Given the description of an element on the screen output the (x, y) to click on. 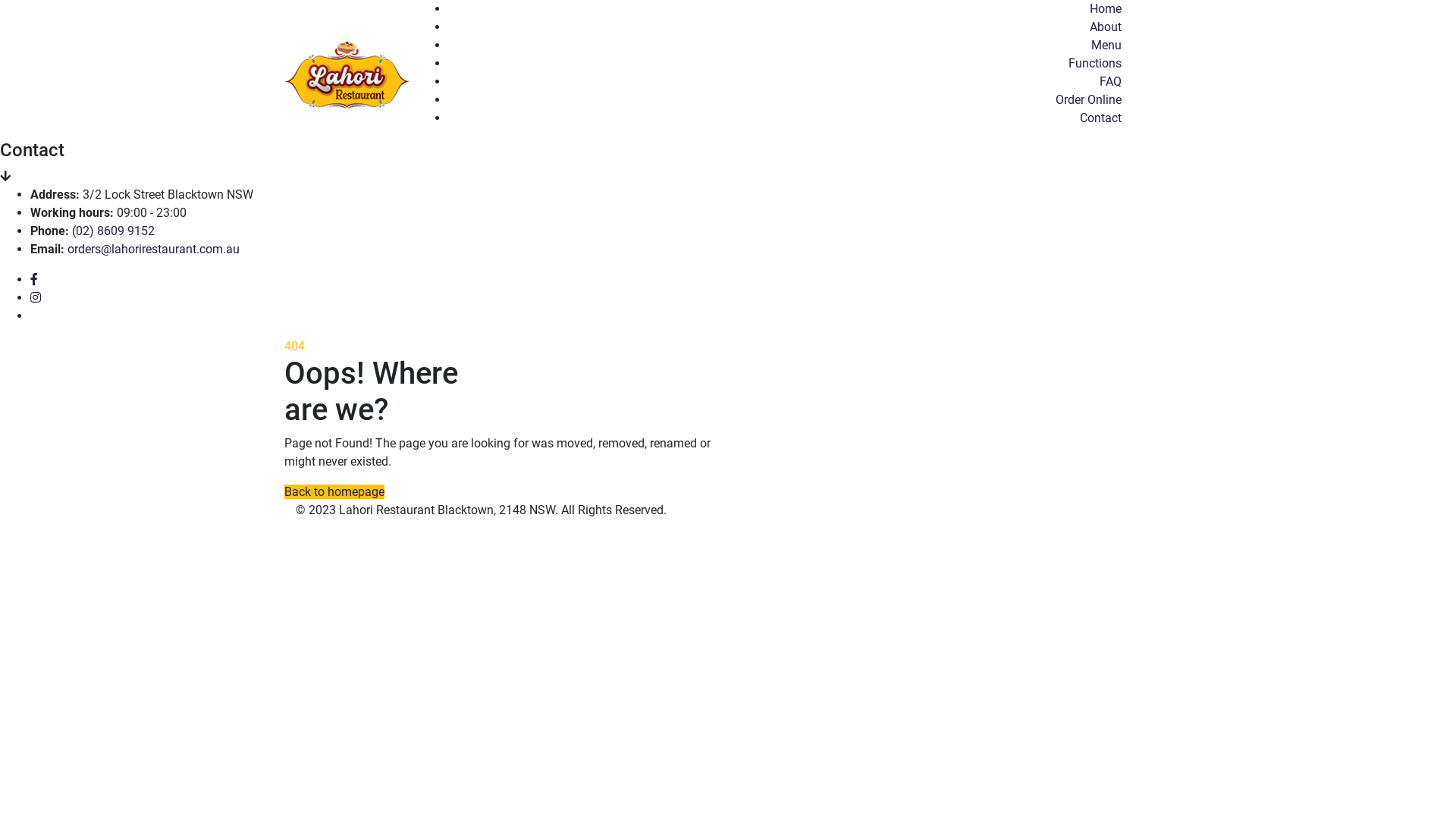
Back to homepage Element type: text (334, 491)
Contact Element type: text (1100, 117)
About Element type: text (1105, 26)
Order Online Element type: text (1088, 99)
(02) 8609 9152 Element type: text (113, 230)
Functions Element type: text (1094, 63)
orders@lahorirestaurant.com.au Element type: text (153, 248)
Facebook Element type: hover (33, 279)
Instagram Element type: hover (35, 297)
FAQ Element type: text (1110, 81)
Home Element type: text (1105, 8)
Menu Element type: text (1106, 44)
